Given the description of an element on the screen output the (x, y) to click on. 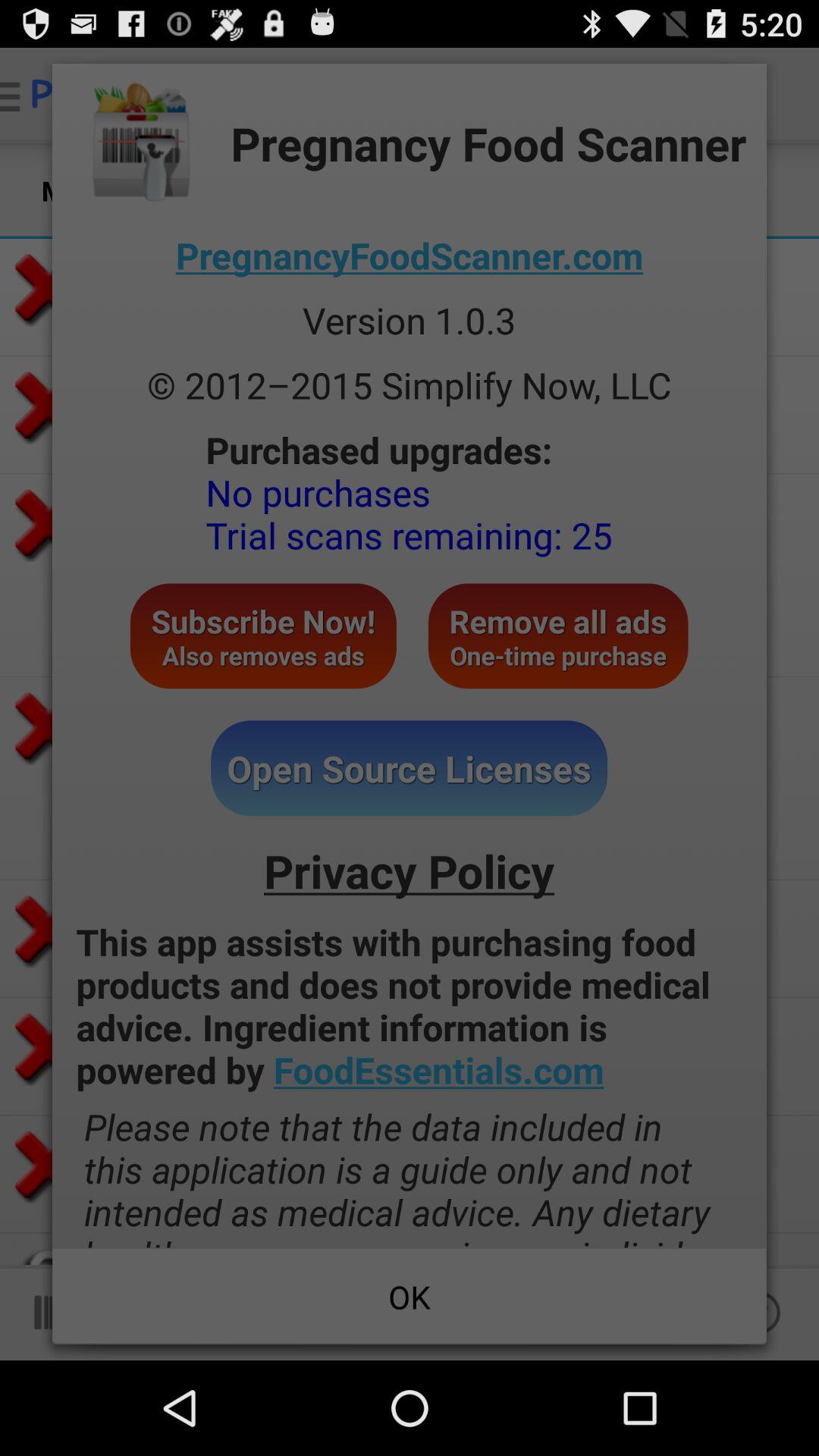
open the app above please note that item (409, 1005)
